Given the description of an element on the screen output the (x, y) to click on. 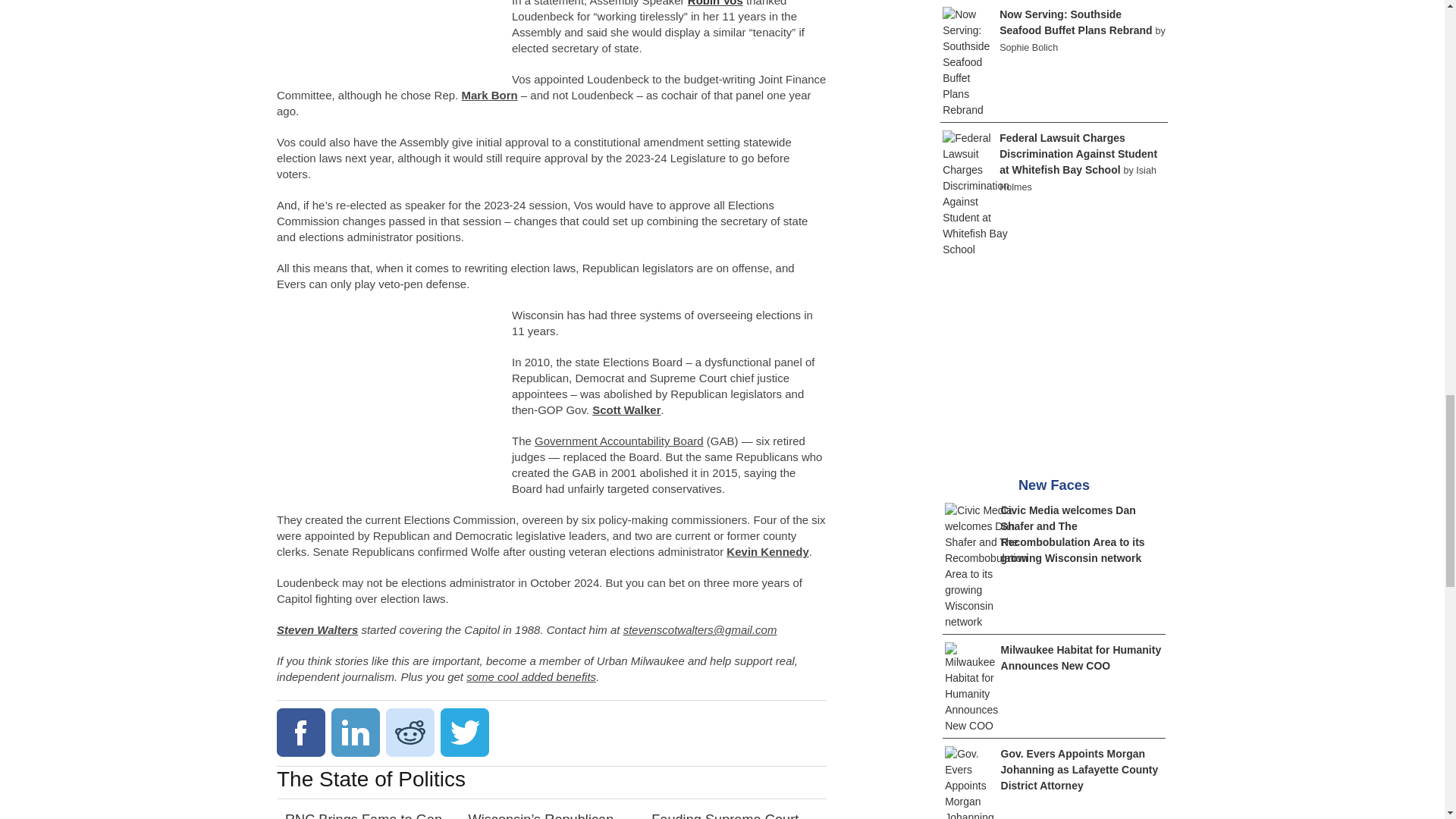
Scott Walker (626, 409)
Government Accountability Board (618, 440)
Robin Vos (714, 3)
Mark Born (488, 94)
